Given the description of an element on the screen output the (x, y) to click on. 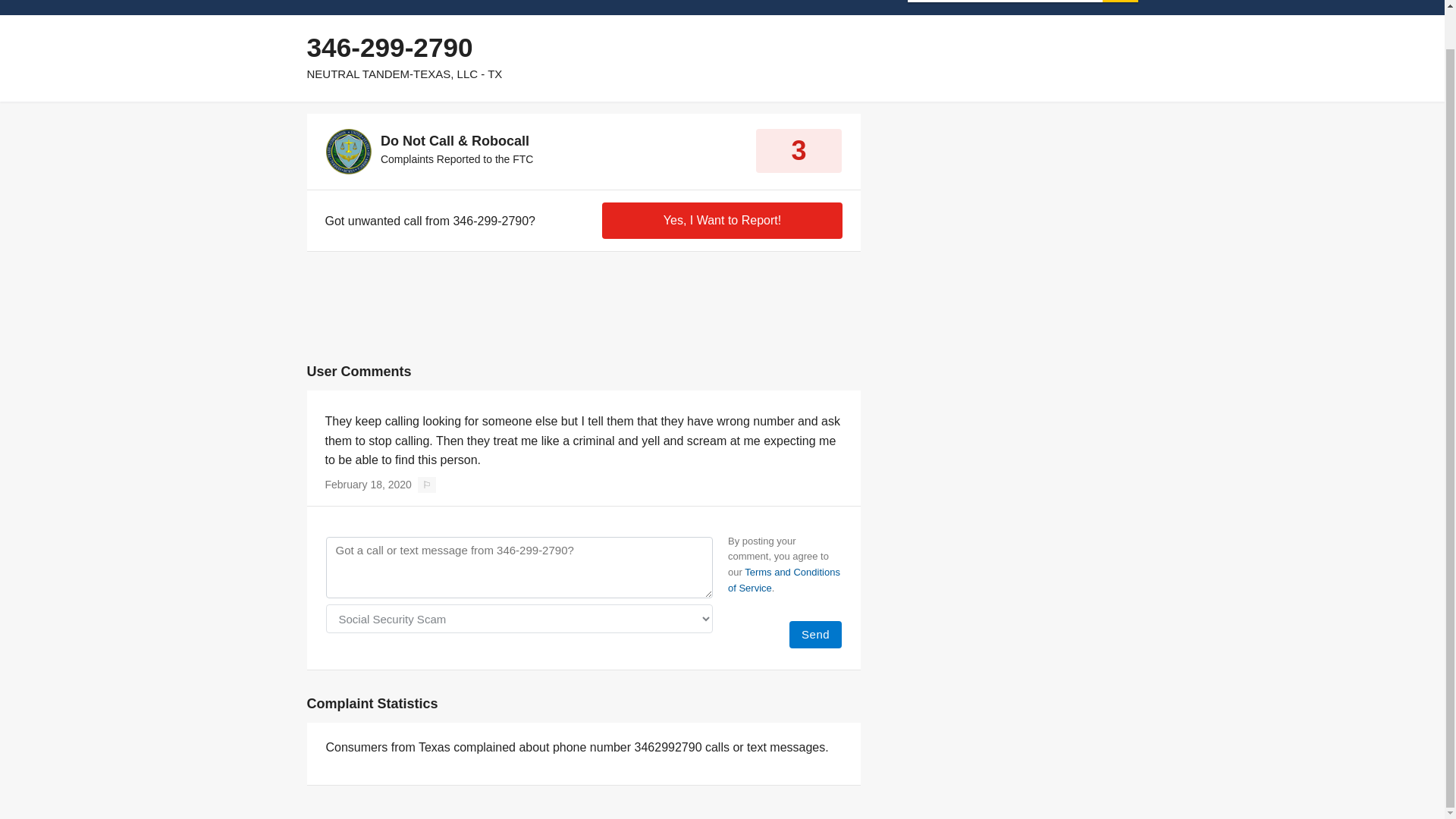
Flag this comment for moderator attention (426, 484)
Send (815, 634)
Yes, I Want to Report! (722, 220)
Send (815, 634)
Search! (1120, 1)
Terms and Conditions of Service (784, 579)
